Given the description of an element on the screen output the (x, y) to click on. 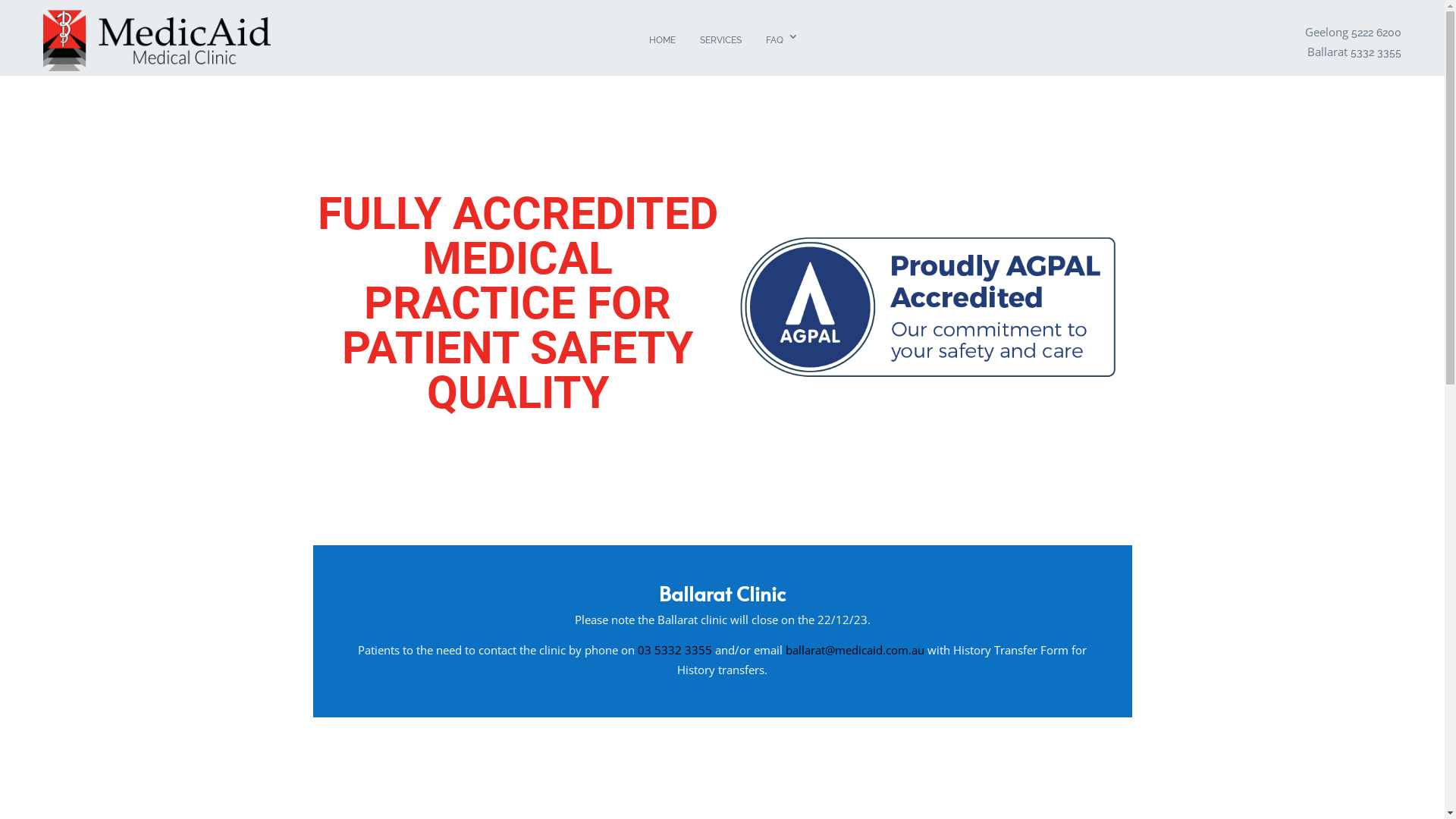
5222 6200 Element type: text (1376, 32)
HOME Element type: text (662, 41)
SERVICES Element type: text (720, 41)
03 5332 3355 Element type: text (674, 649)
agpal Element type: hover (926, 306)
logo-300x89-1 Element type: hover (156, 41)
ballarat@medicaid.com.au Element type: text (854, 649)
5332 3355 Element type: text (1375, 51)
FAQ Element type: text (780, 41)
